Given the description of an element on the screen output the (x, y) to click on. 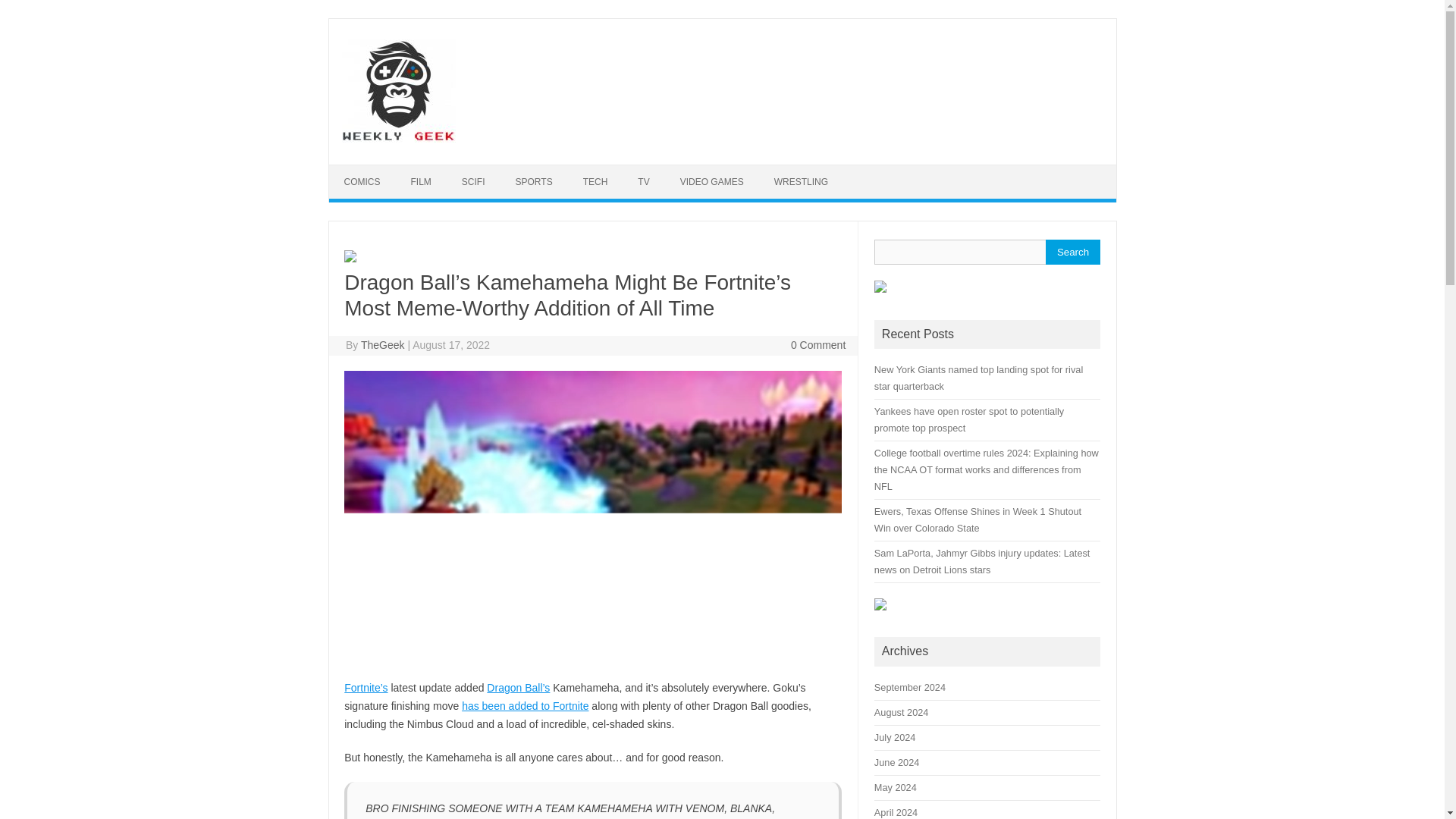
SCIFI (473, 182)
Search (1072, 251)
TV (643, 182)
WRESTLING (800, 182)
TheGeek (382, 345)
TECH (595, 182)
Posts by TheGeek (382, 345)
